Given the description of an element on the screen output the (x, y) to click on. 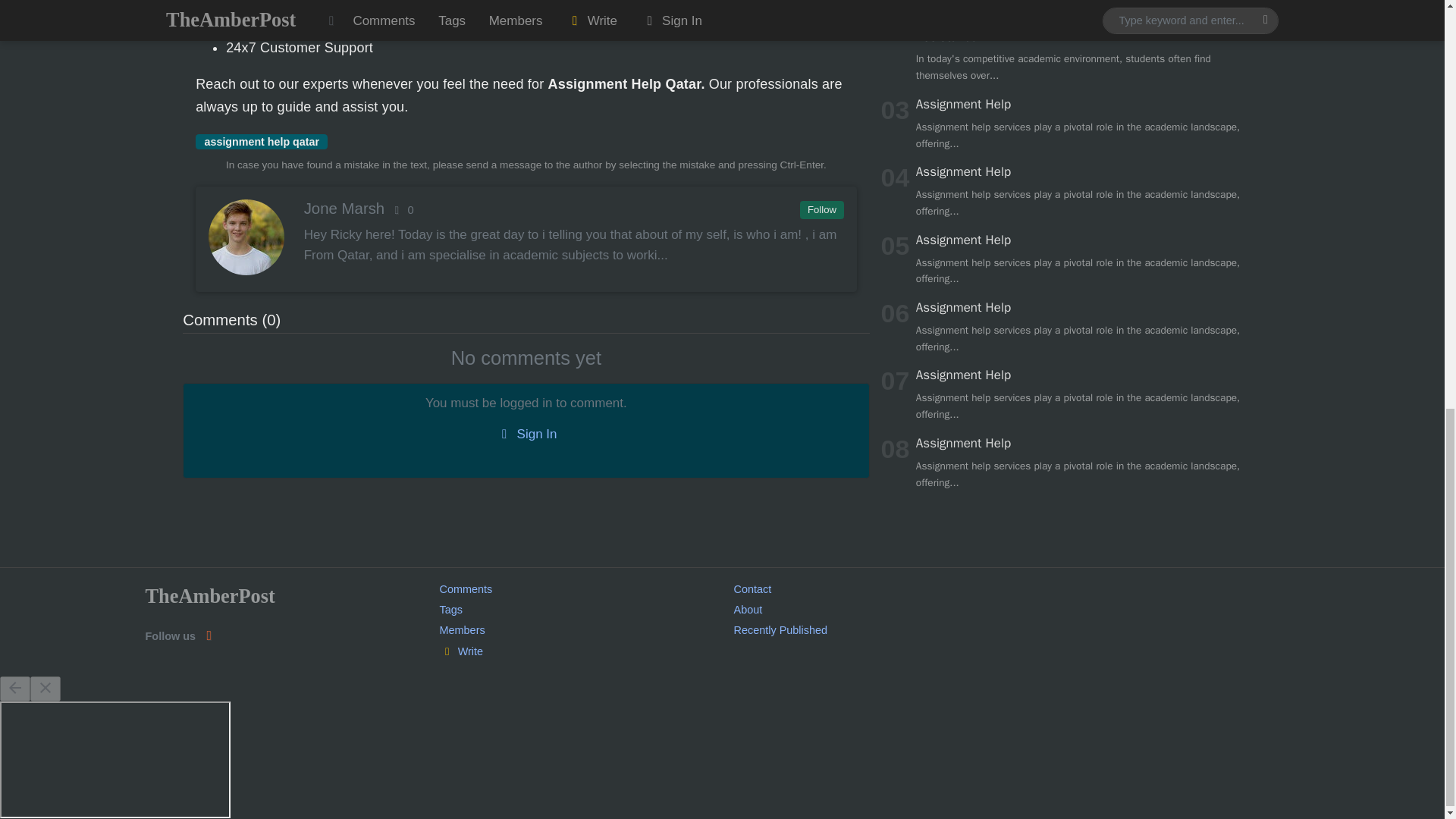
assignment help qatar (261, 141)
Comments (466, 589)
Jone Marsh 0 (525, 208)
Rating (400, 209)
Tags (451, 609)
assignment help qatar (261, 141)
Follow (821, 209)
Sign In (525, 434)
